Given the description of an element on the screen output the (x, y) to click on. 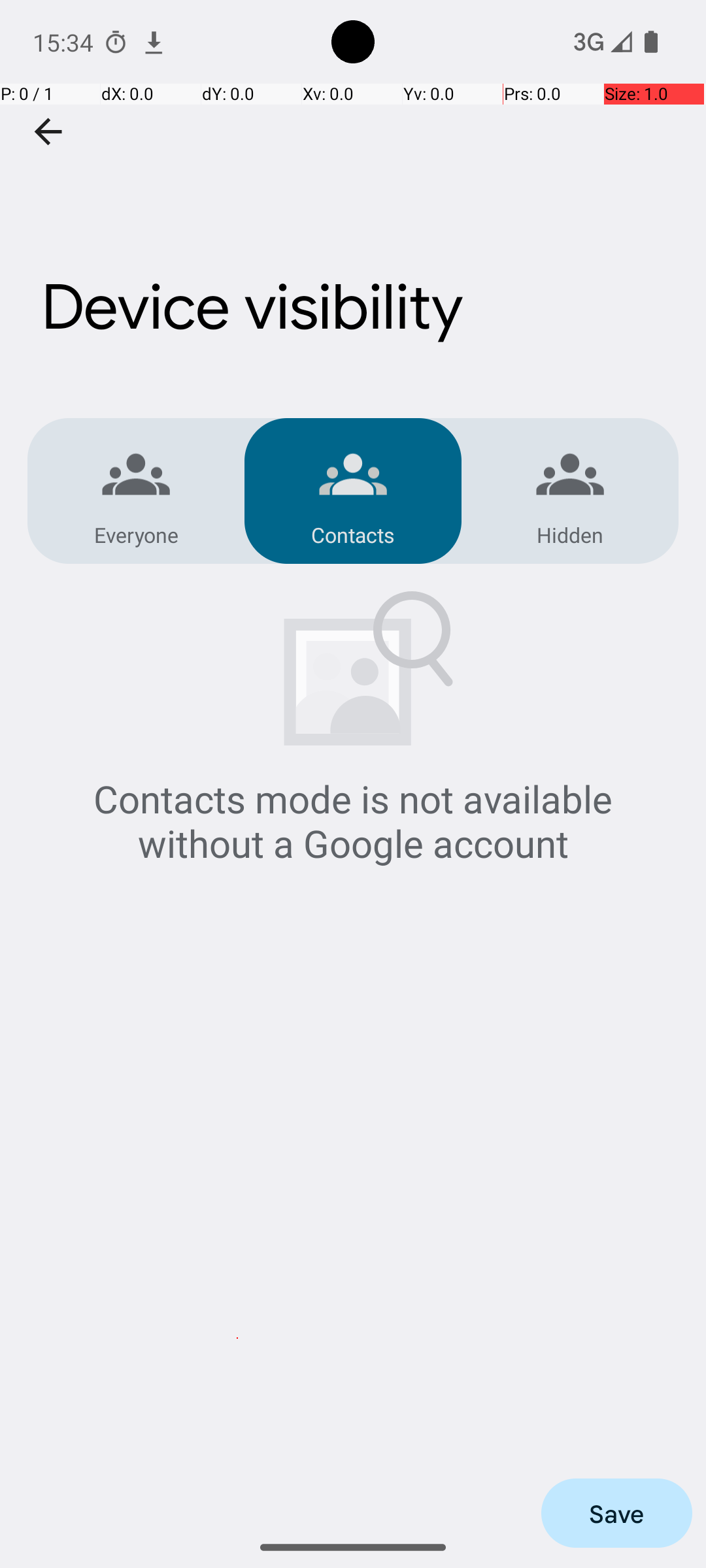
Contacts mode is not available without a Google account Element type: android.widget.TextView (352, 820)
Everyone Element type: android.widget.TextView (135, 534)
Hidden Element type: android.widget.TextView (569, 534)
